Given the description of an element on the screen output the (x, y) to click on. 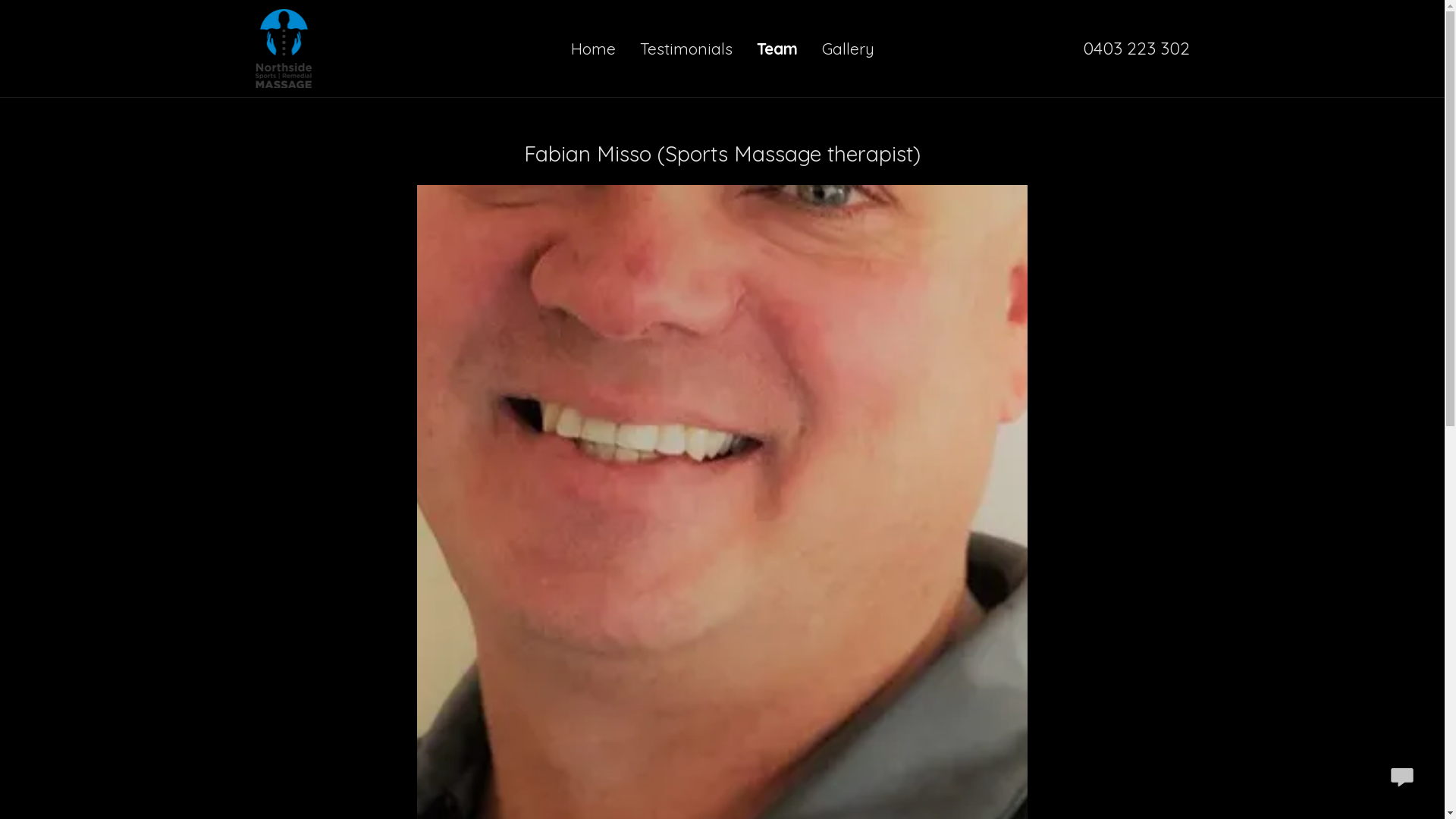
Home Element type: text (592, 48)
0403 223 302 Element type: text (1135, 48)
Team Element type: text (776, 48)
Gallery Element type: text (847, 48)
Testimonials Element type: text (686, 48)
Massage at North Lakes Element type: hover (282, 46)
